Given the description of an element on the screen output the (x, y) to click on. 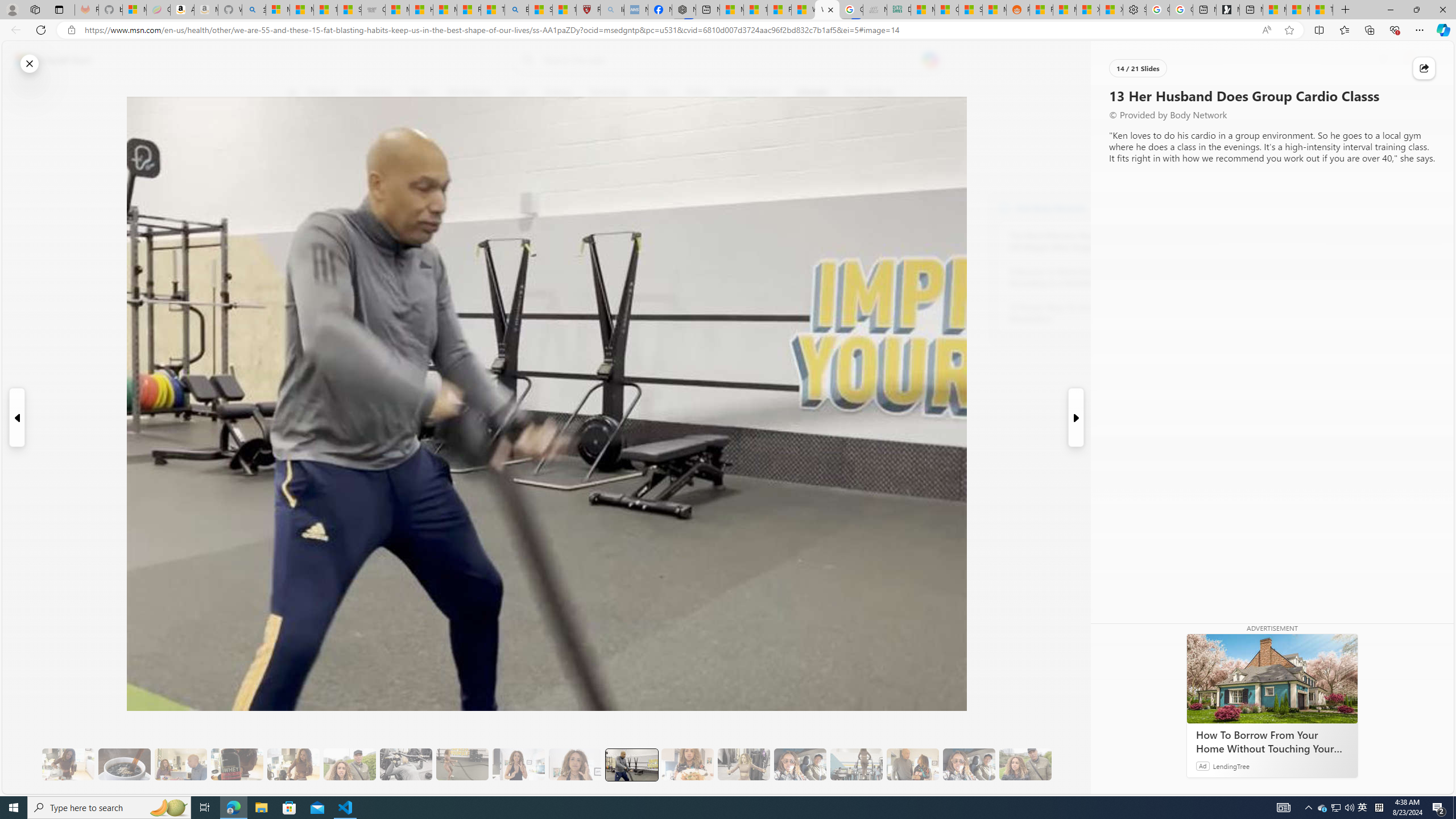
Fitness - MSN (779, 9)
Food & Drink (869, 92)
Enter your search term (730, 59)
6 (299, 170)
Body Network (449, 147)
9 They Do Bench Exercises (406, 764)
8 They Walk to the Gym (349, 764)
